Given the description of an element on the screen output the (x, y) to click on. 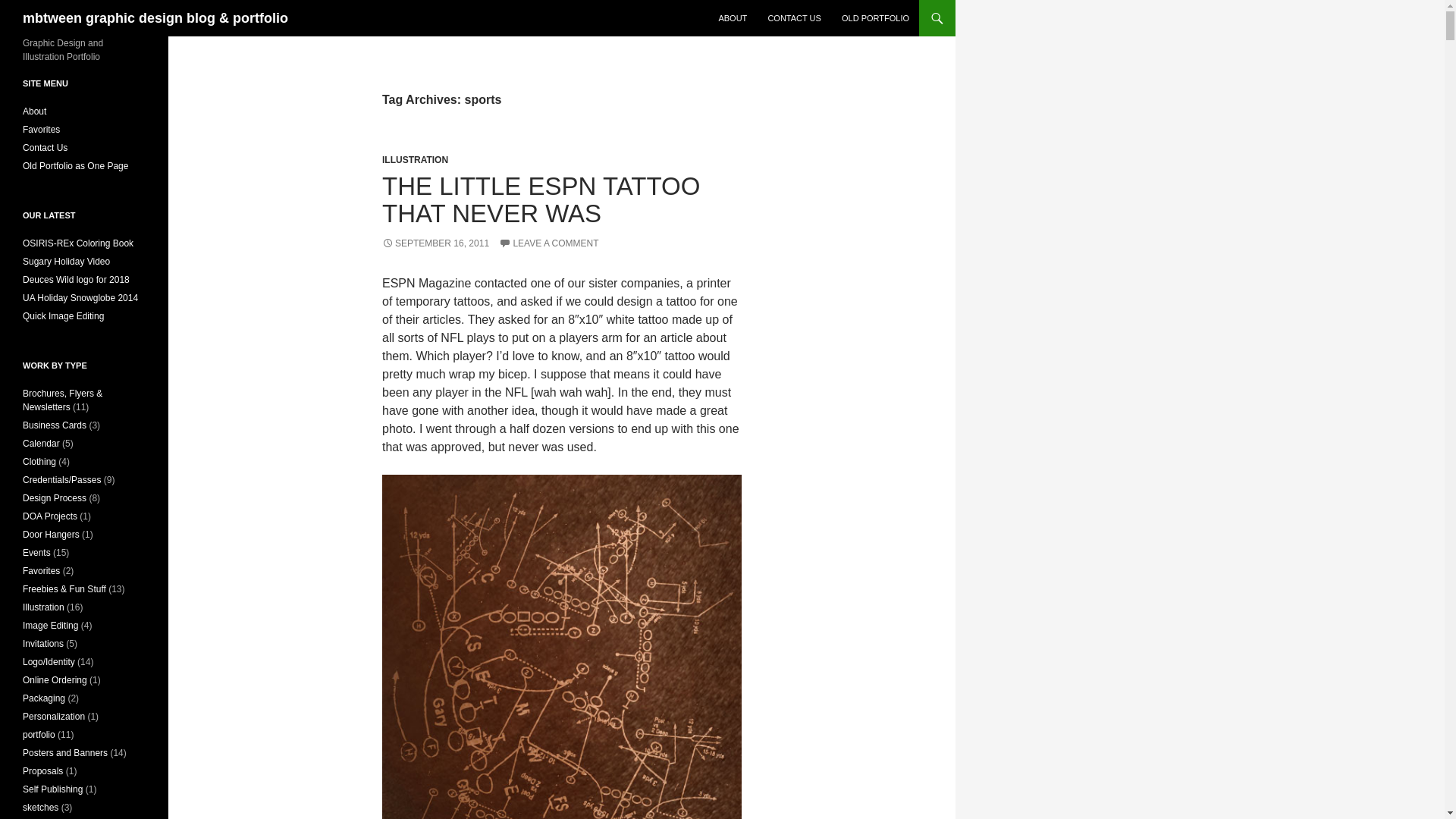
LEAVE A COMMENT (548, 243)
CONTACT US (793, 18)
ABOUT (732, 18)
OLD PORTFOLIO (875, 18)
THE LITTLE ESPN TATTOO THAT NEVER WAS (540, 199)
ILLUSTRATION (414, 159)
SEPTEMBER 16, 2011 (435, 243)
